Given the description of an element on the screen output the (x, y) to click on. 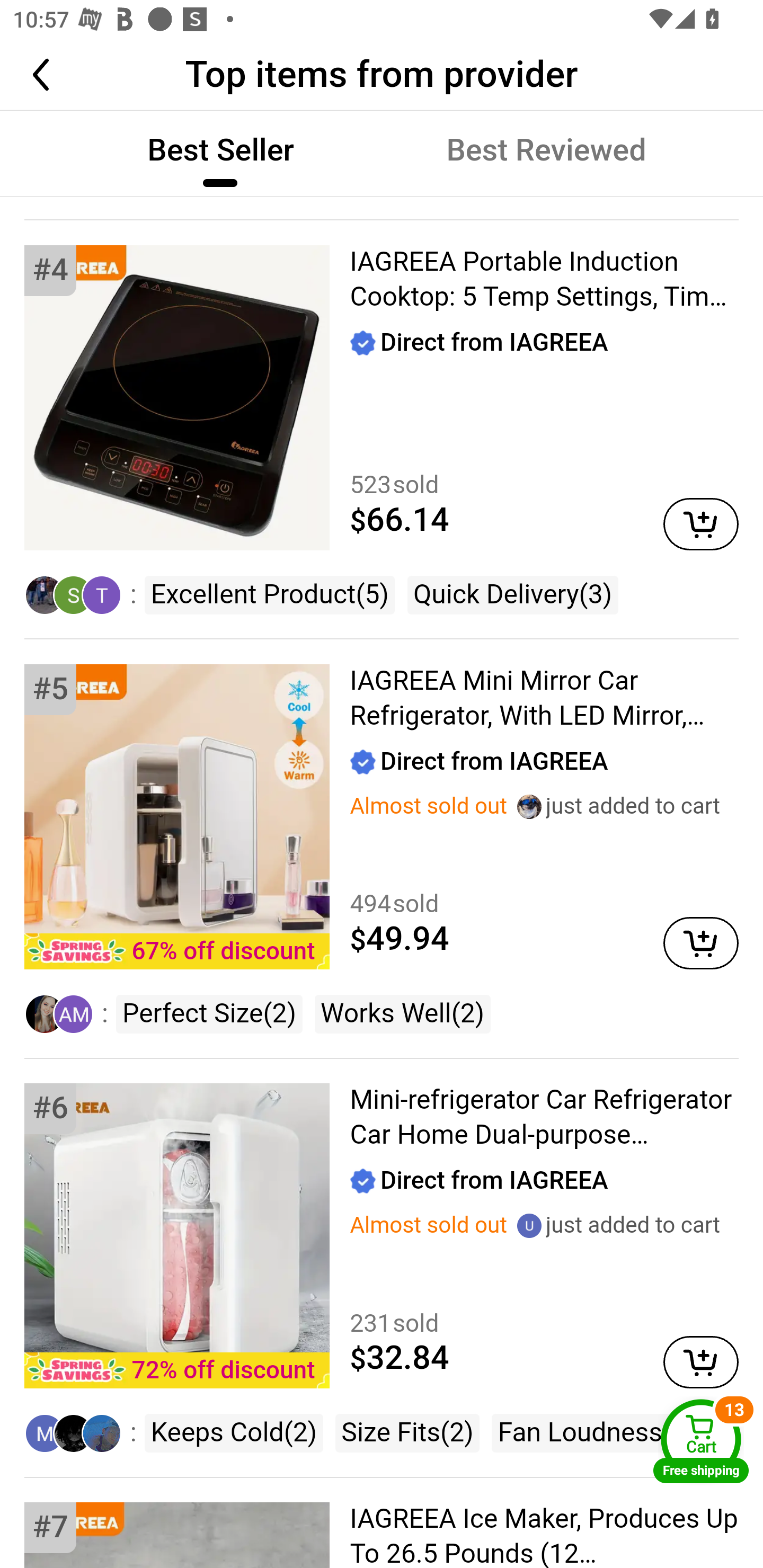
Best Seller (220, 151)
Best Reviewed (546, 151)
Cart Free shipping Cart (701, 1440)
